Given the description of an element on the screen output the (x, y) to click on. 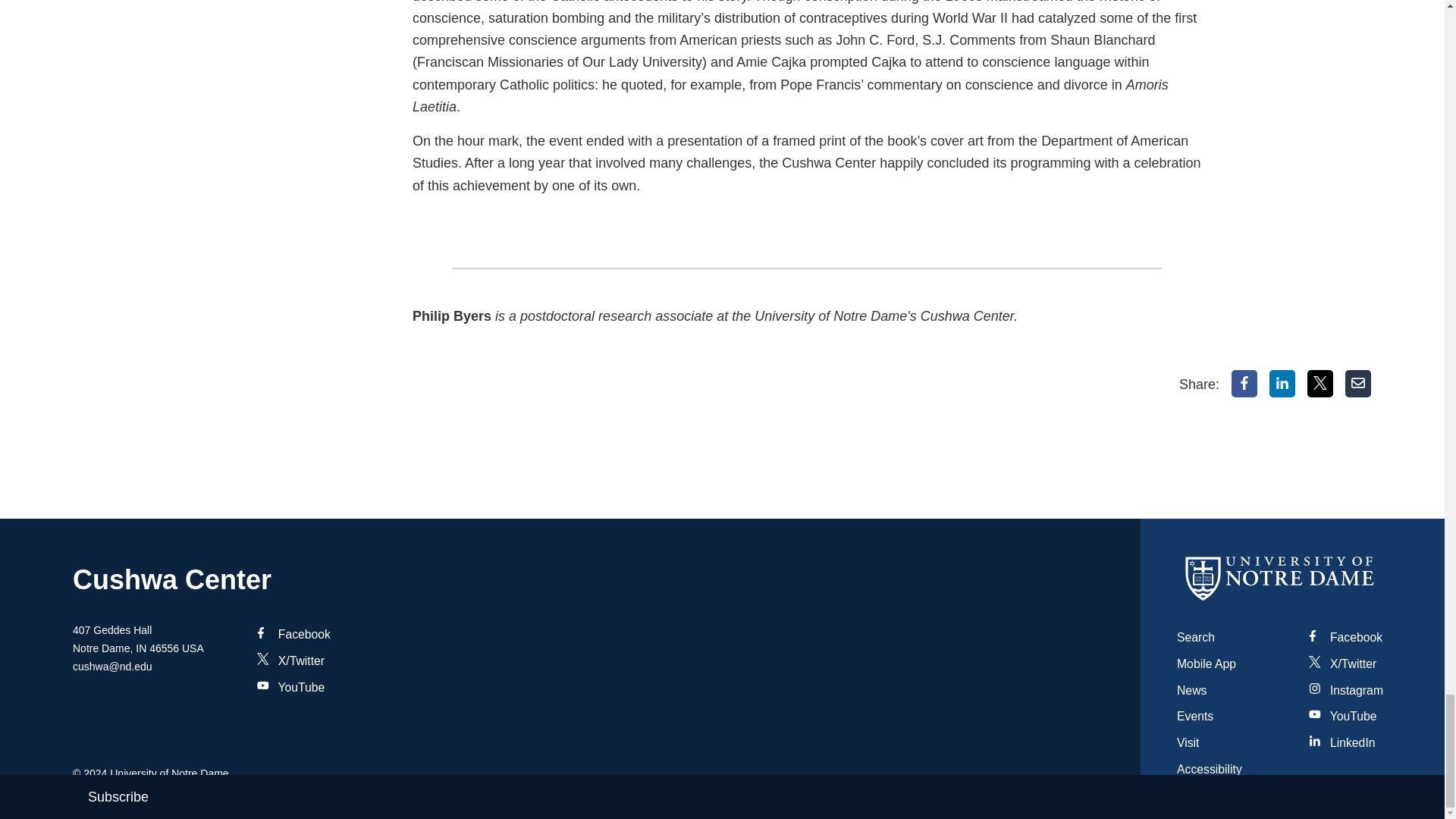
Facebook (1244, 383)
Email (1358, 383)
LinkedIn (1282, 383)
